Given the description of an element on the screen output the (x, y) to click on. 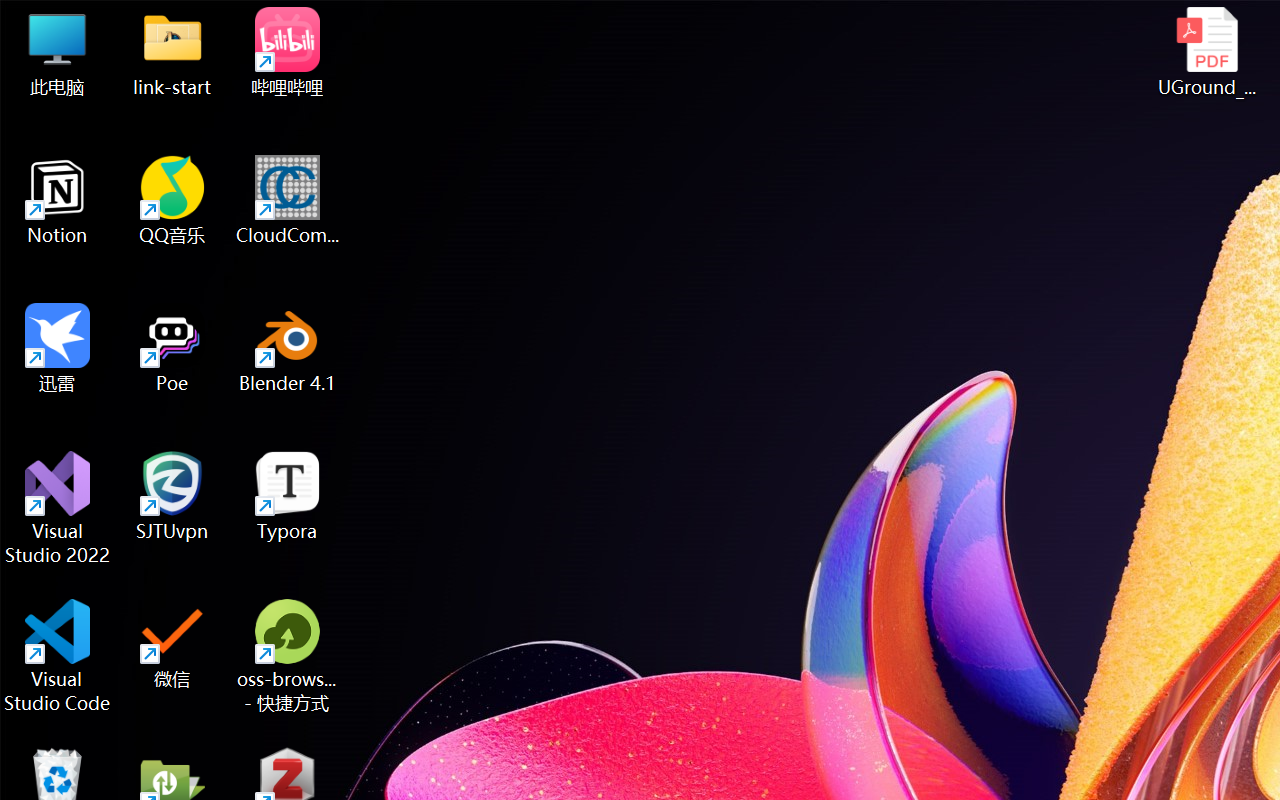
CloudCompare (287, 200)
SJTUvpn (172, 496)
Visual Studio 2022 (57, 508)
Typora (287, 496)
UGround_paper.pdf (1206, 52)
Blender 4.1 (287, 348)
Visual Studio Code (57, 656)
